Given the description of an element on the screen output the (x, y) to click on. 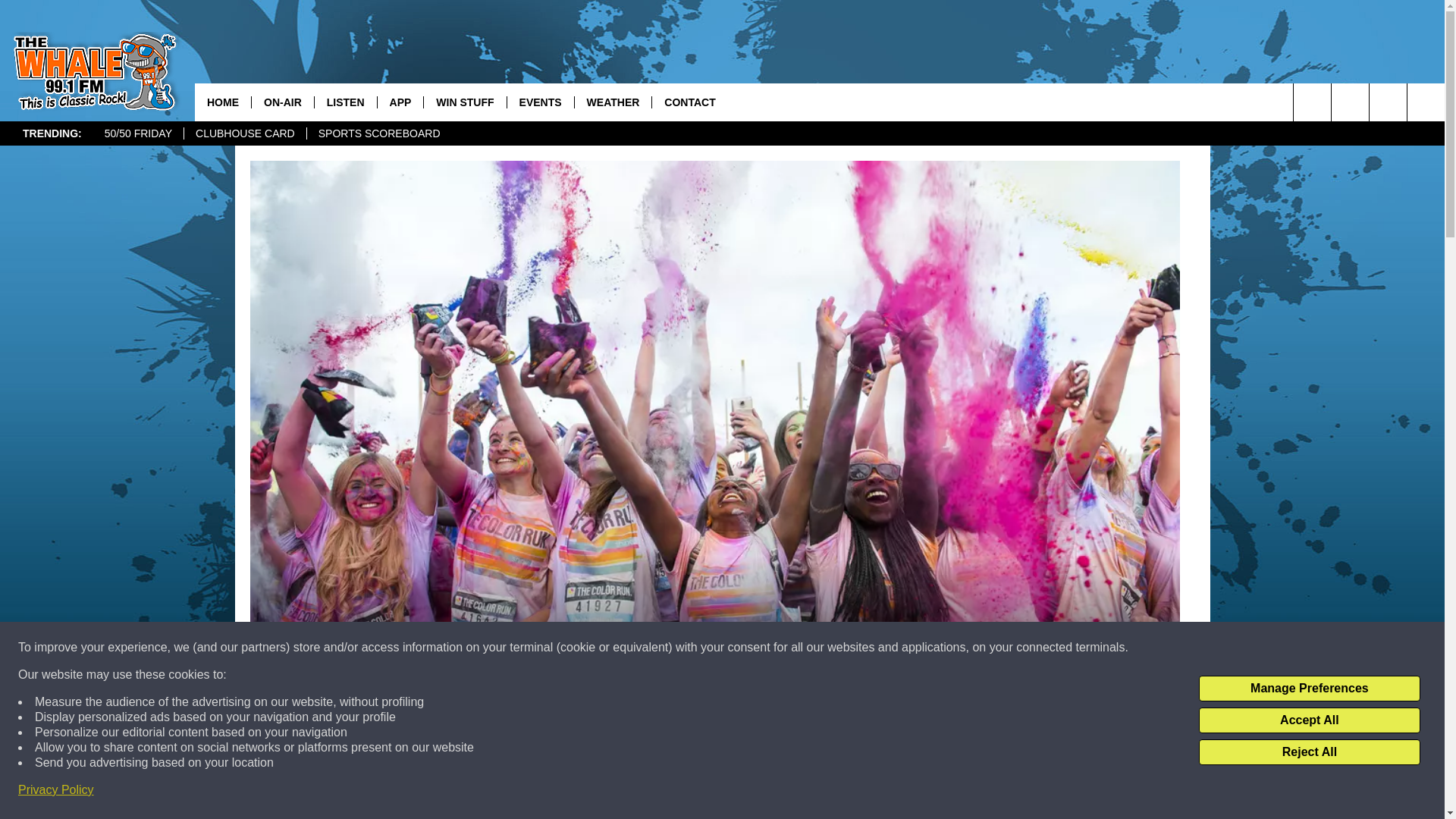
EVENTS (539, 102)
Share on Facebook (517, 791)
Privacy Policy (55, 789)
Manage Preferences (1309, 688)
SPORTS SCOREBOARD (378, 133)
ON-AIR (282, 102)
CLUBHOUSE CARD (244, 133)
CONTACT (688, 102)
WIN STUFF (464, 102)
HOME (222, 102)
Accept All (1309, 720)
WEATHER (612, 102)
APP (400, 102)
Share on Twitter (912, 791)
LISTEN (345, 102)
